Given the description of an element on the screen output the (x, y) to click on. 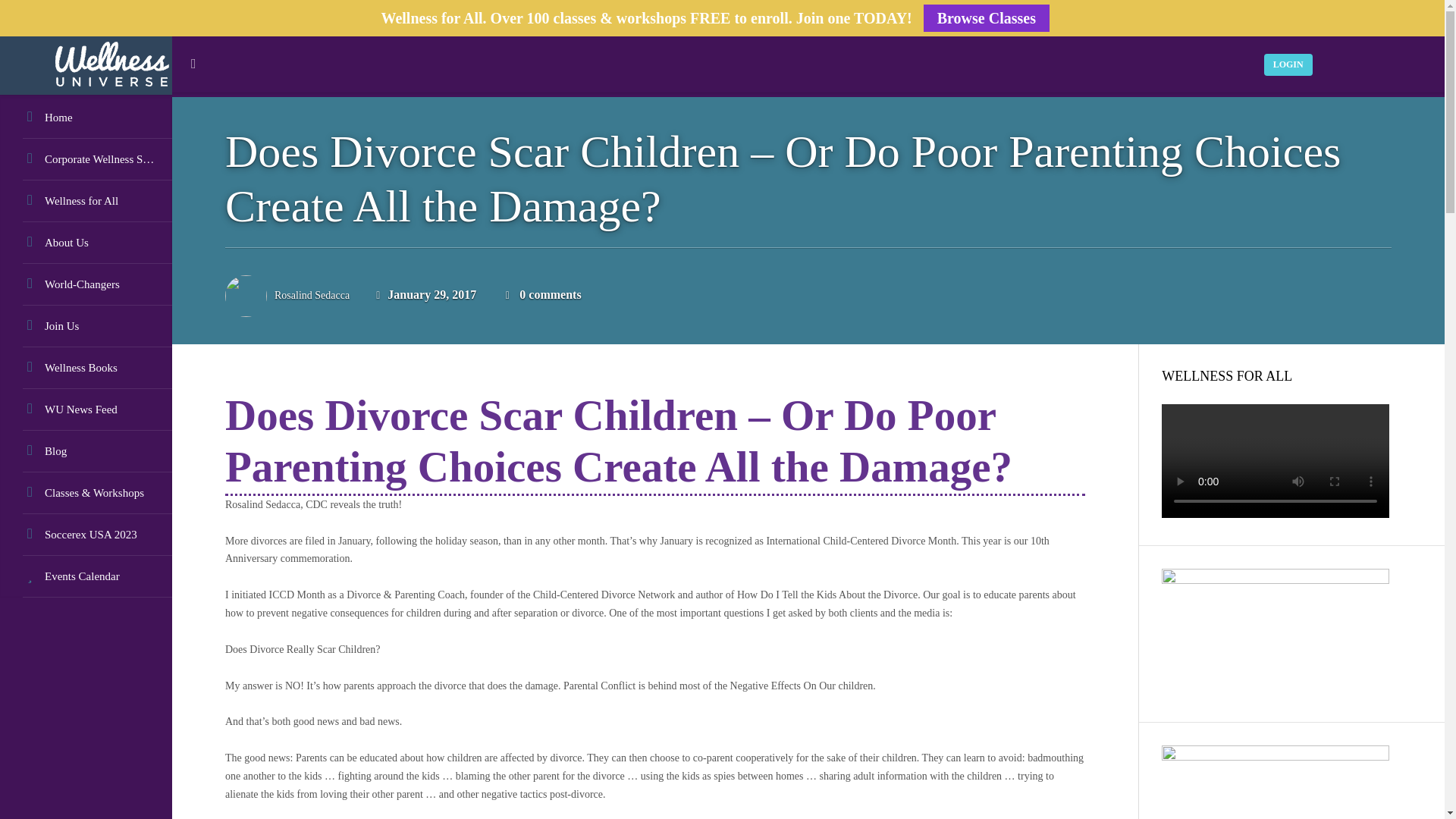
Browse Classes (986, 17)
Wellness for All (85, 200)
Join Us (85, 326)
Home (85, 117)
Soccerex USA 2023 (85, 535)
About Us (85, 242)
Events Calendar (85, 576)
World-Changers (85, 284)
Blog (85, 451)
View all posts by Rosalind Sedacca (312, 295)
